Given the description of an element on the screen output the (x, y) to click on. 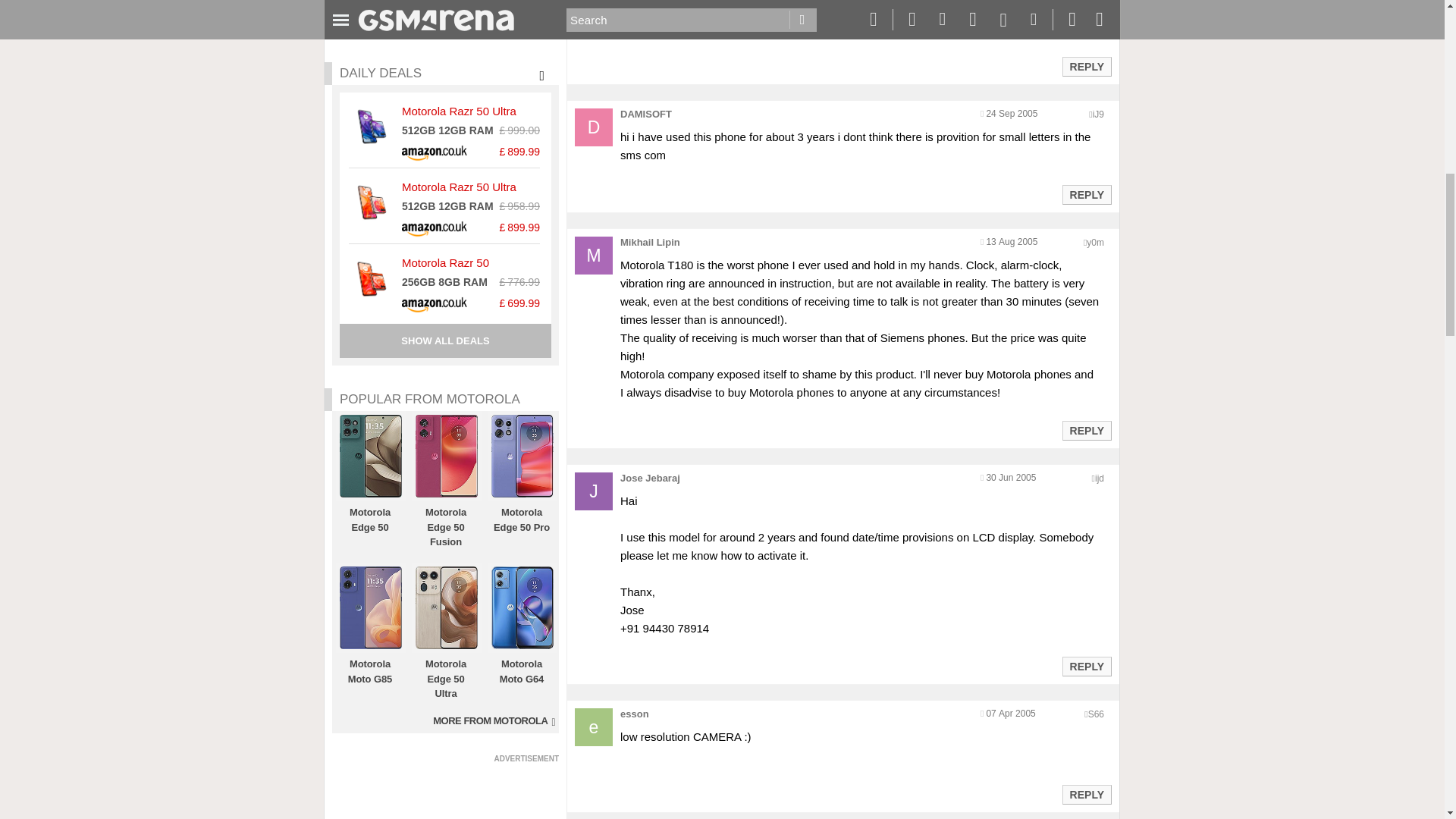
Reply to this post (1086, 194)
Reply to this post (1086, 66)
Reply to this post (1086, 666)
Reply to this post (1086, 430)
Encoded anonymized location (1095, 714)
Encoded anonymized location (1094, 242)
Encoded anonymized location (1098, 113)
